Given the description of an element on the screen output the (x, y) to click on. 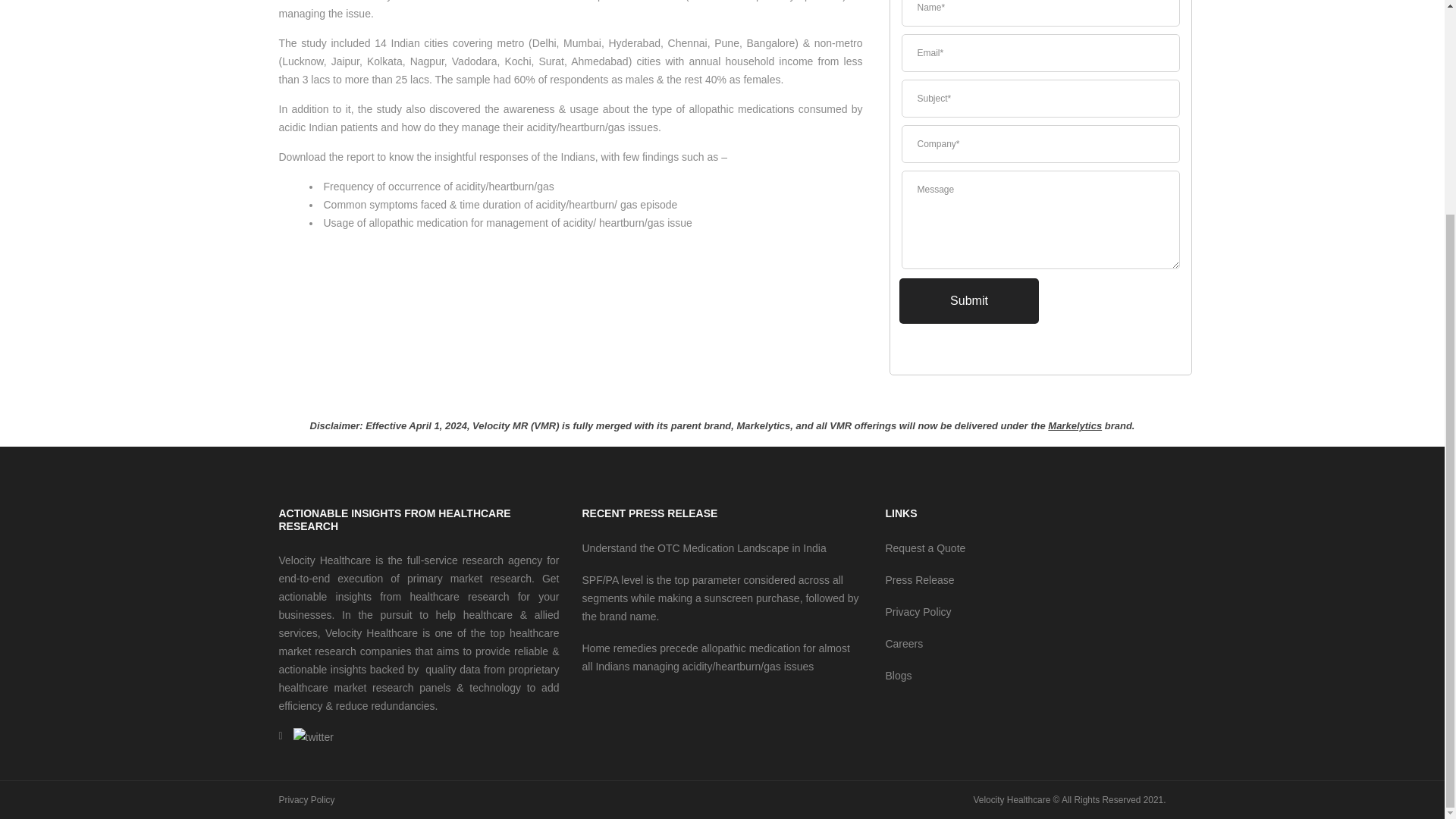
Submit (969, 300)
Request a Quote (925, 548)
Submit (969, 300)
Press Release (919, 580)
Linkedin (280, 735)
Understand the OTC Medication Landscape in India (702, 548)
Markelytics (1075, 425)
